Given the description of an element on the screen output the (x, y) to click on. 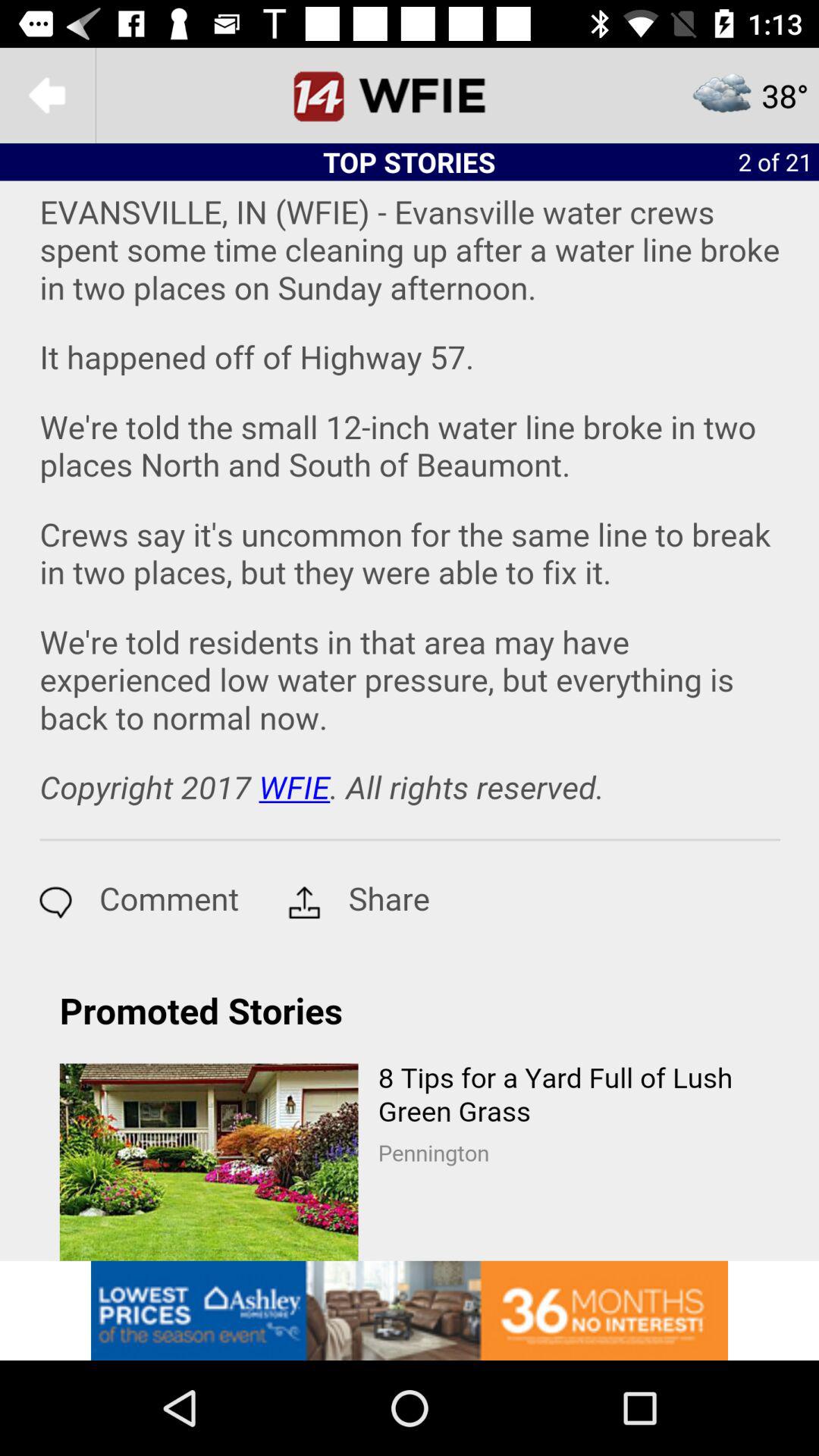
view home page (409, 95)
